Given the description of an element on the screen output the (x, y) to click on. 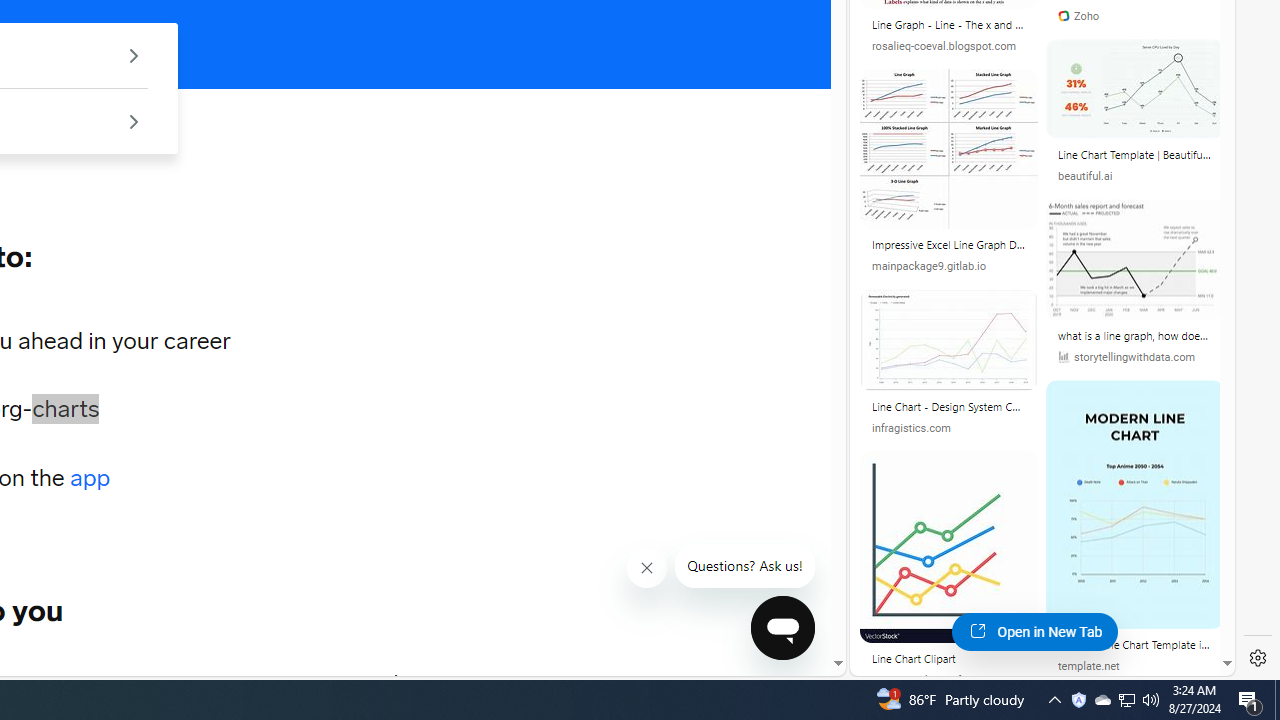
template.net (1135, 666)
Zoho (1135, 16)
Forward (398, 682)
Line Graph - Line - The x and y axis are used to. (948, 25)
See group offers (133, 120)
infragistics.com (948, 427)
Line Chart Template | Beautiful.ai (1135, 154)
proper-cooking.info (919, 679)
Line Chart Clipart (948, 658)
Line Chart - Design System Component (948, 409)
storytellingwithdata.com (1126, 357)
beautiful.ai (1085, 175)
